Given the description of an element on the screen output the (x, y) to click on. 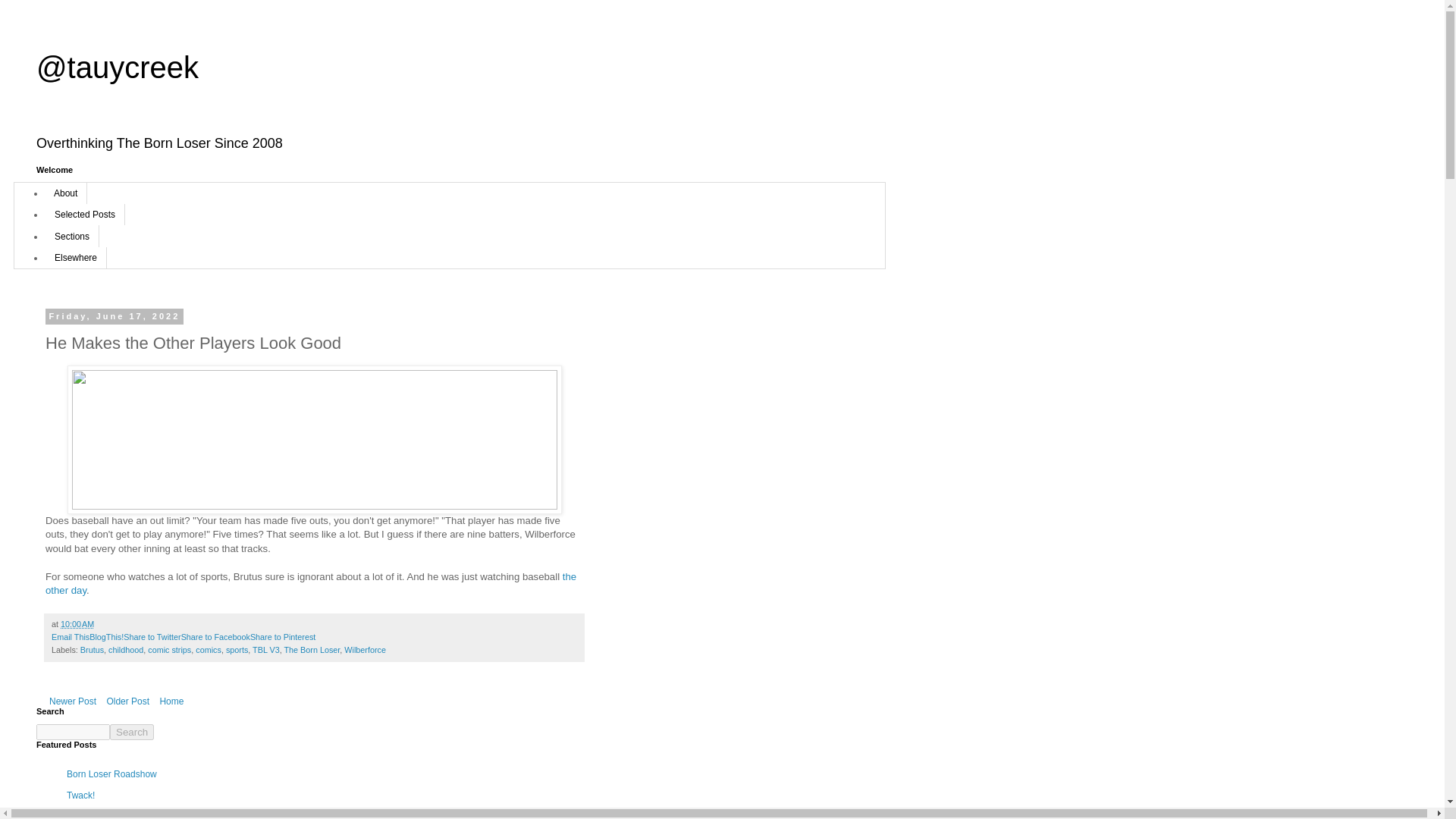
Older Post (126, 701)
Selected Posts (85, 214)
BlogThis! (105, 636)
TBL V3 (265, 649)
comics (208, 649)
Share to Facebook (215, 636)
Born Loser Roadshow (111, 774)
Sections (72, 235)
Elsewhere (75, 257)
Share to Pinterest (282, 636)
childhood (124, 649)
Email This (69, 636)
Share to Facebook (215, 636)
Wilberforce (364, 649)
